Given the description of an element on the screen output the (x, y) to click on. 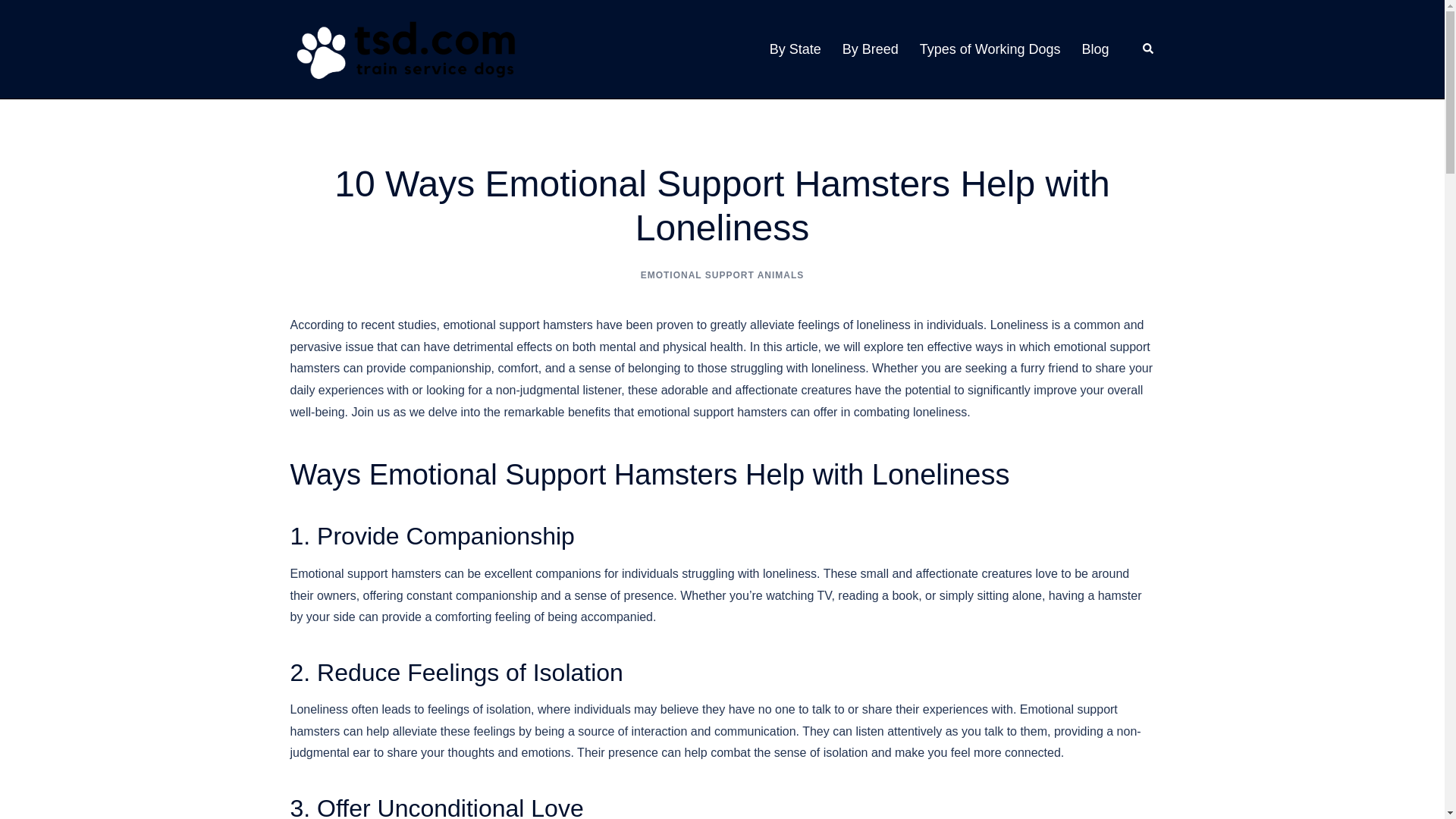
TrainServiceDogs.com (402, 47)
Blog (1094, 48)
Types of Working Dogs (990, 48)
By State (795, 48)
Search (1147, 49)
By Breed (870, 48)
EMOTIONAL SUPPORT ANIMALS (722, 275)
